Given the description of an element on the screen output the (x, y) to click on. 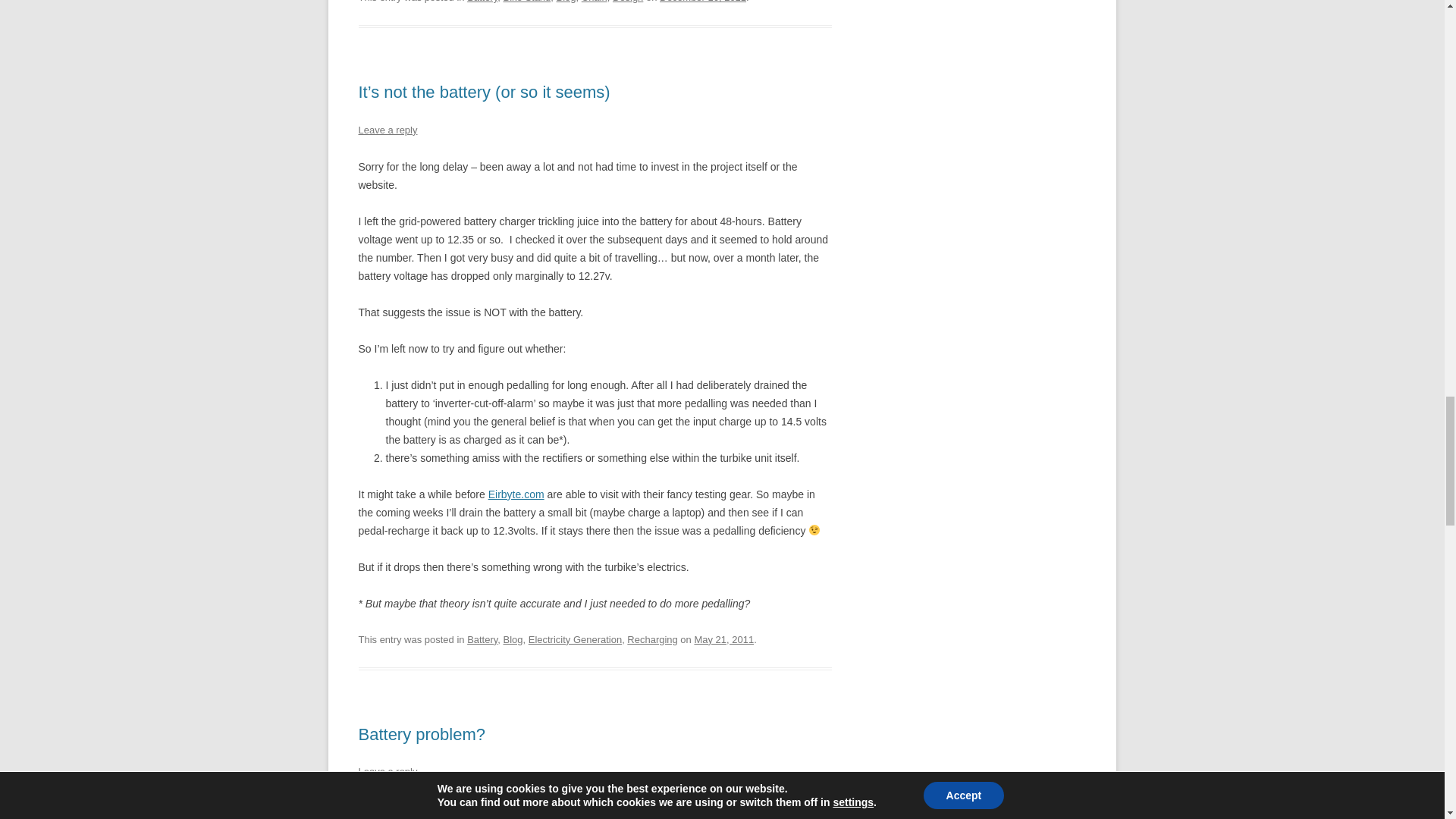
Battery (482, 1)
Bike Stand (527, 1)
Chain (593, 1)
3:29 pm (702, 1)
Eirbyte.com (515, 494)
Blog (566, 1)
10:29 pm (724, 639)
